Given the description of an element on the screen output the (x, y) to click on. 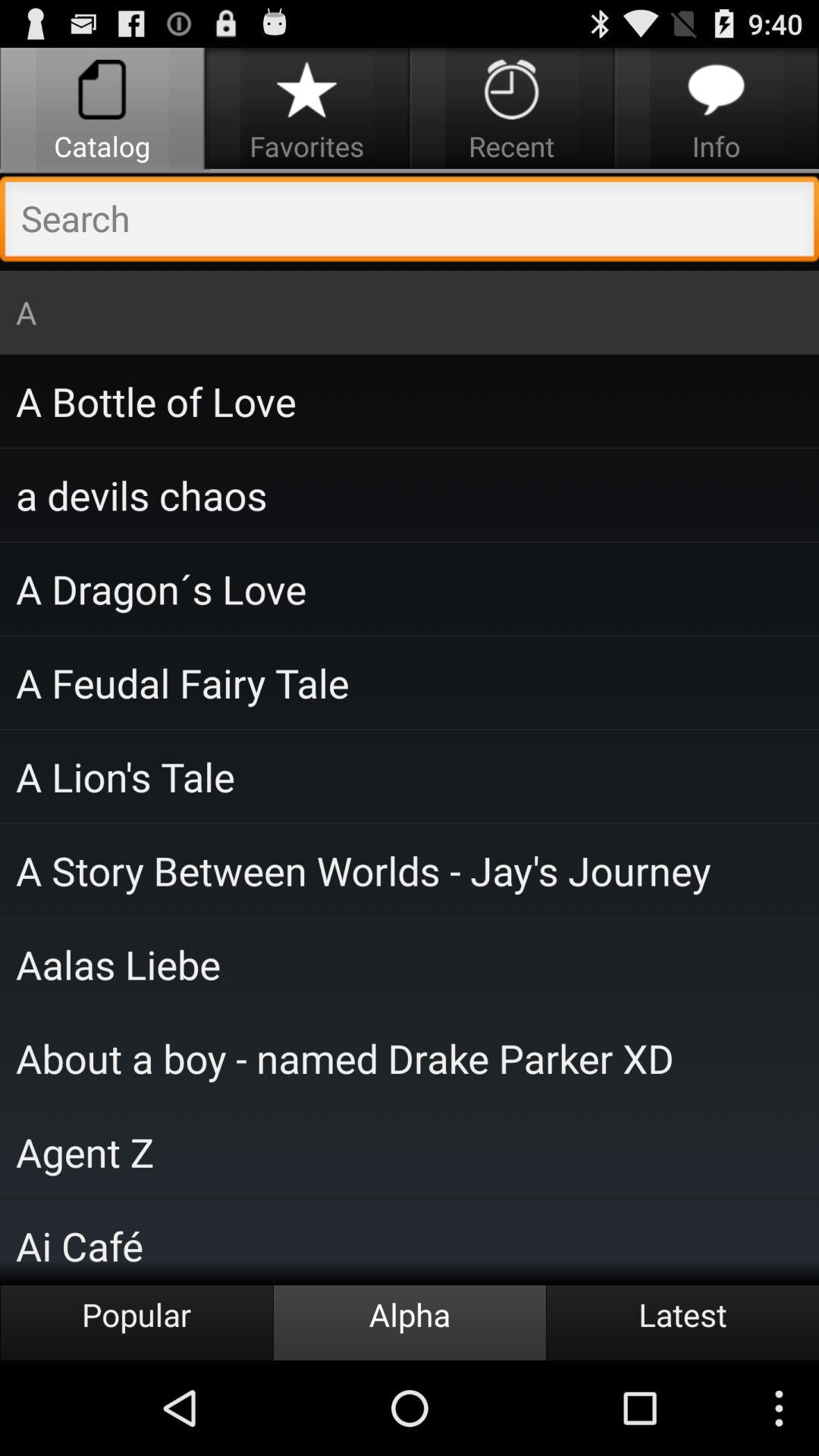
choose app below a lion s (409, 870)
